Given the description of an element on the screen output the (x, y) to click on. 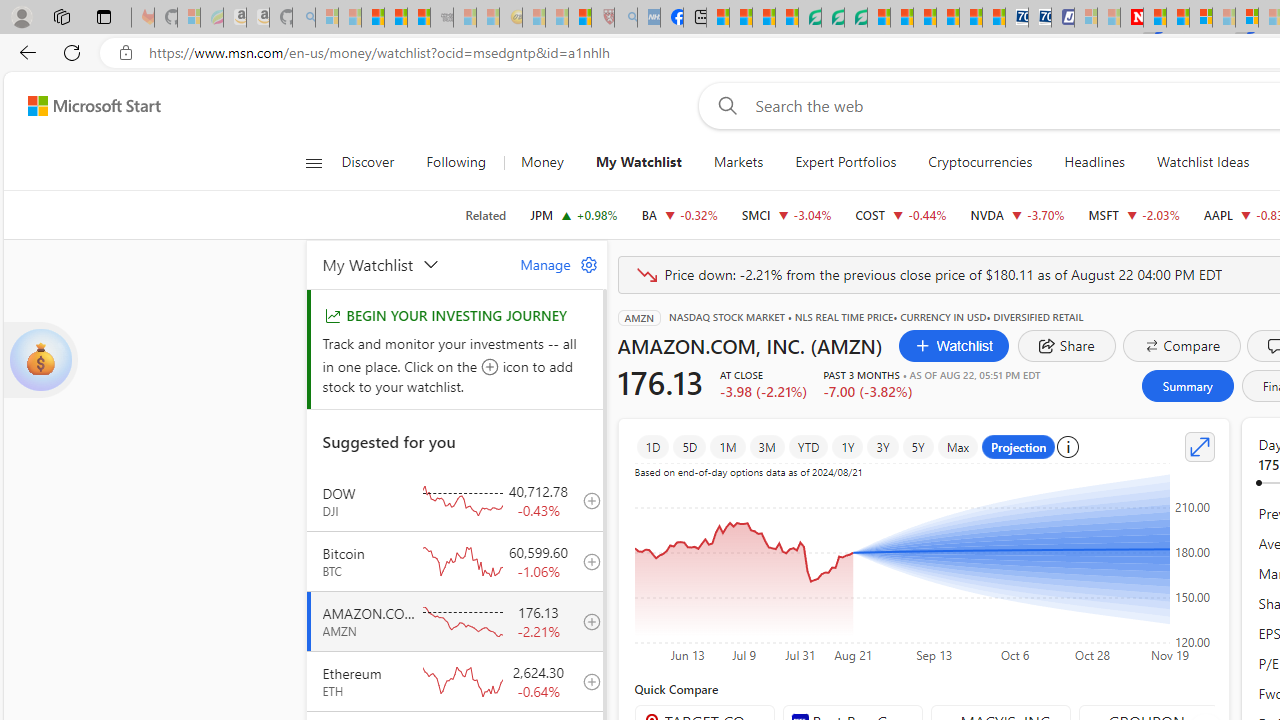
Summary (1186, 385)
Watchlist Ideas (1202, 162)
BA THE BOEING COMPANY decrease 172.87 -0.56 -0.32% (678, 214)
Cryptocurrencies (980, 162)
